Given the description of an element on the screen output the (x, y) to click on. 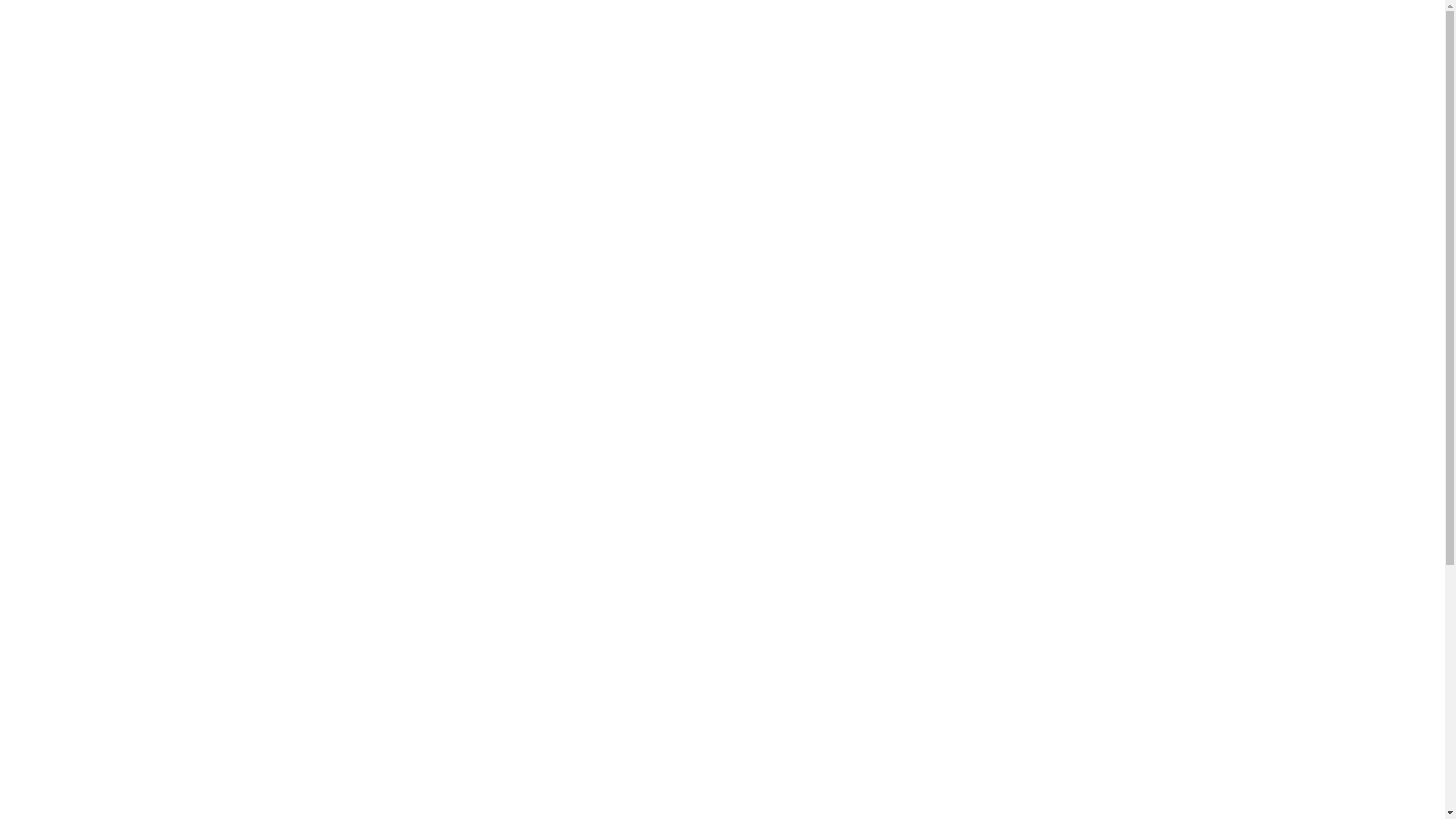
AITC New Brunswick Resources Site Element type: hover (397, 41)
